Given the description of an element on the screen output the (x, y) to click on. 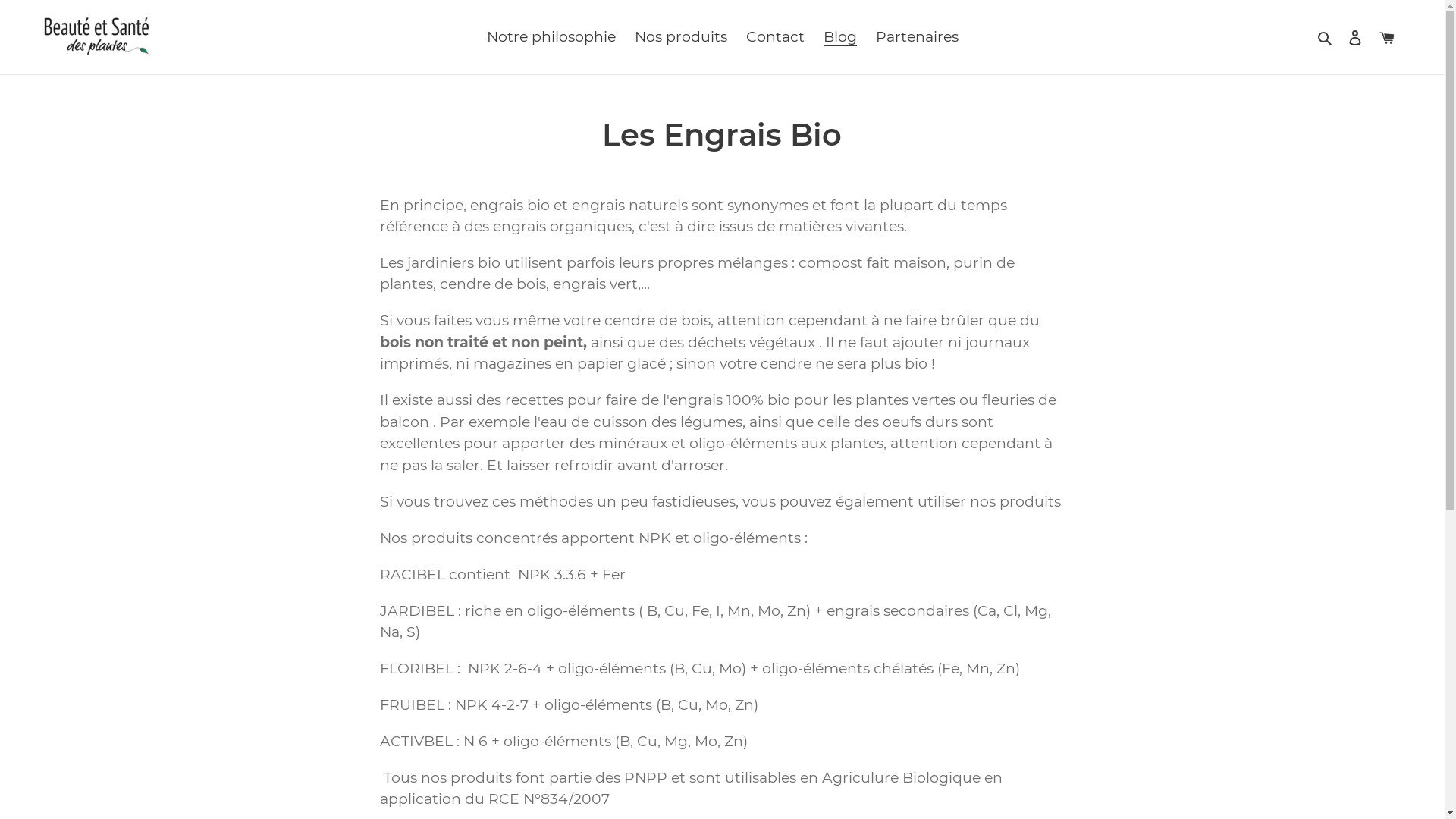
Partenaires Element type: text (916, 37)
Notre philosophie Element type: text (551, 37)
Rechercher Element type: text (1325, 37)
Panier Element type: text (1386, 36)
Blog Element type: text (839, 37)
Nos produits Element type: text (680, 37)
Contact Element type: text (775, 37)
